Given the description of an element on the screen output the (x, y) to click on. 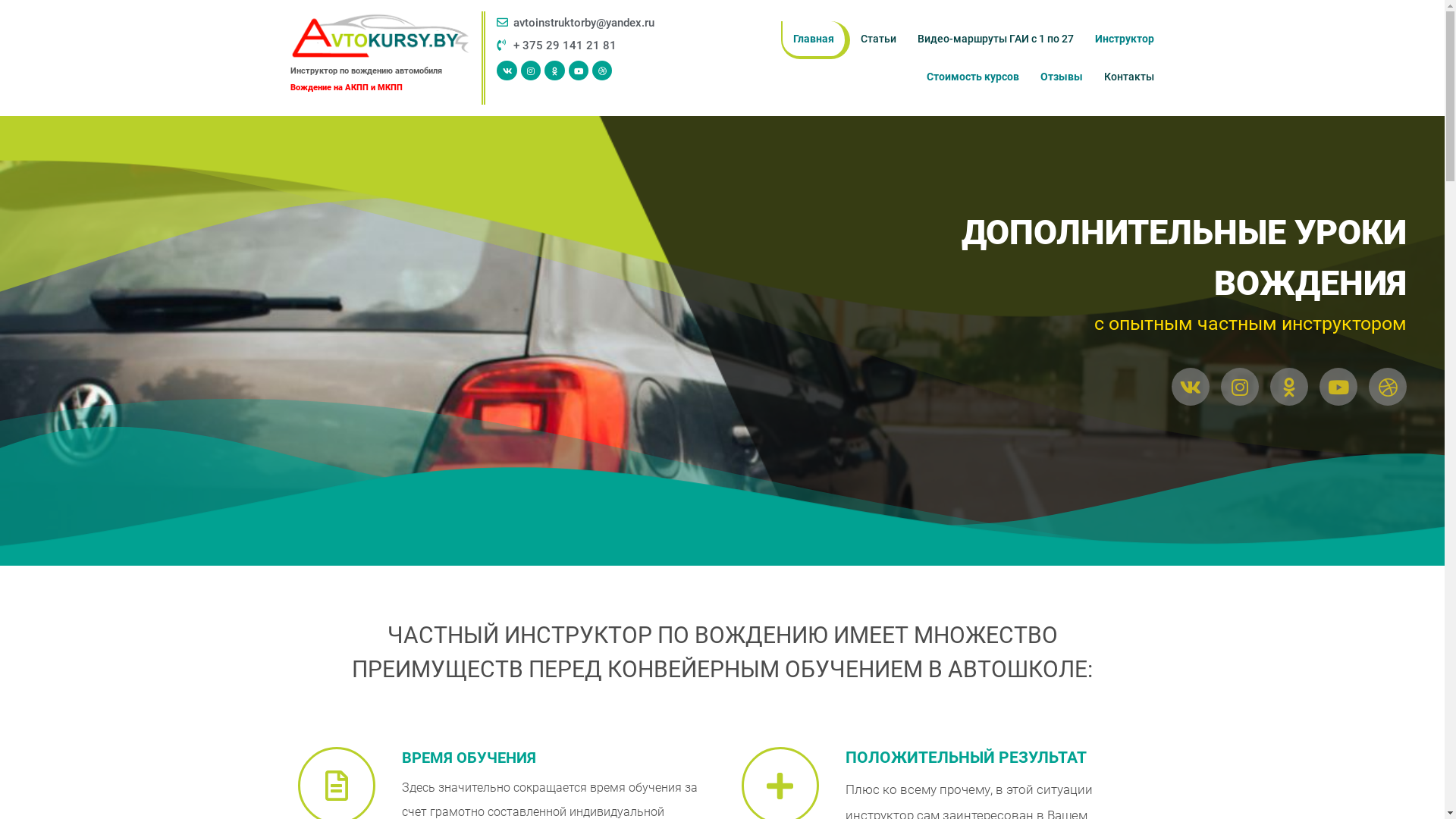
avtoinstruktorby@yandex.ru Element type: text (584, 22)
+ 375 29 141 21 81 Element type: text (584, 45)
